Given the description of an element on the screen output the (x, y) to click on. 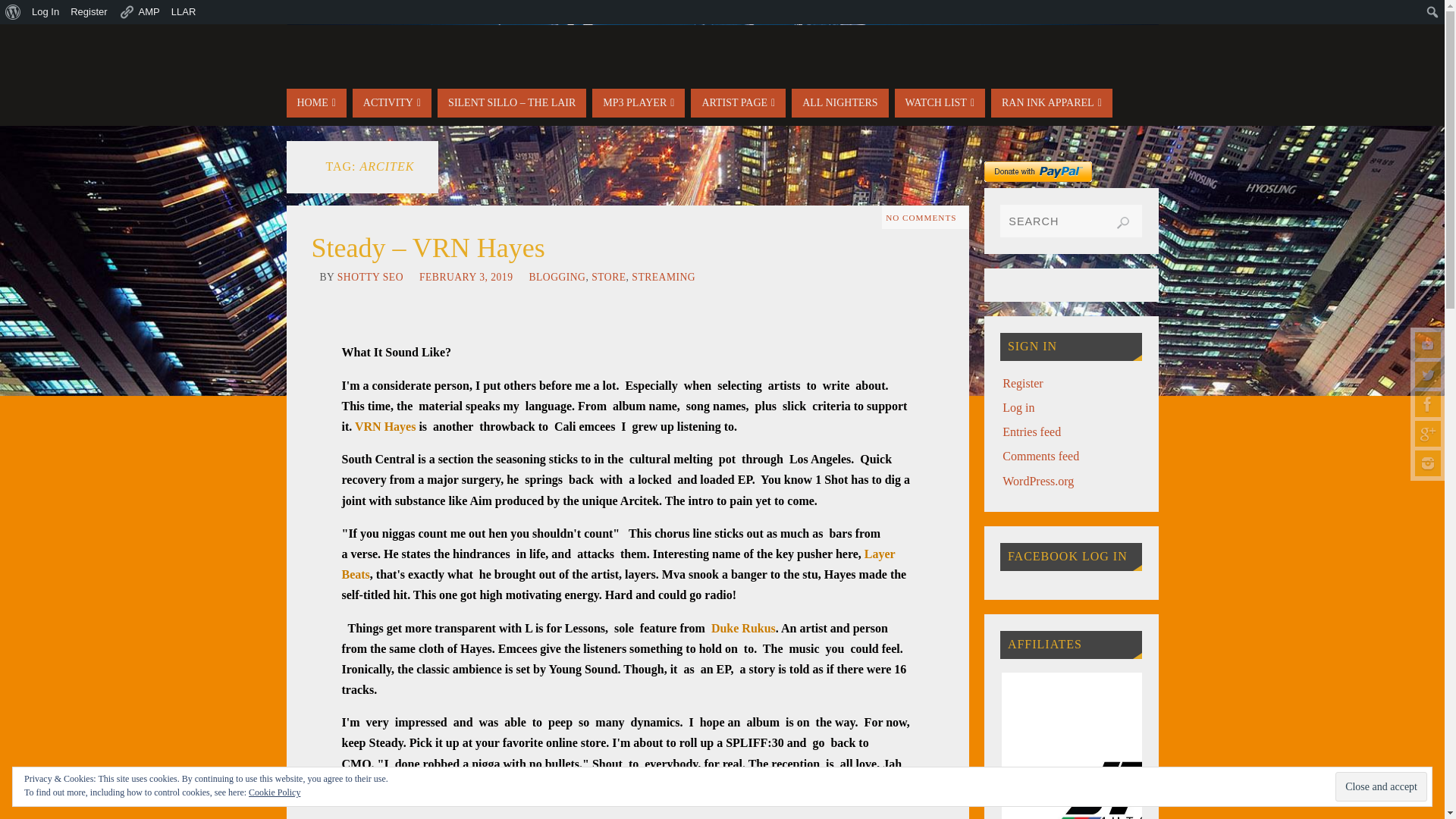
A.Wills (1428, 433)
Close and accept (1380, 786)
View all posts by Shotty SEO (370, 276)
LLAR (183, 12)
RAN Ink (1428, 462)
AMP (139, 12)
Rhyme All Night HQ (1428, 403)
MP3 PLAYER (638, 102)
Log In (45, 12)
View AMP version (139, 12)
